Given the description of an element on the screen output the (x, y) to click on. 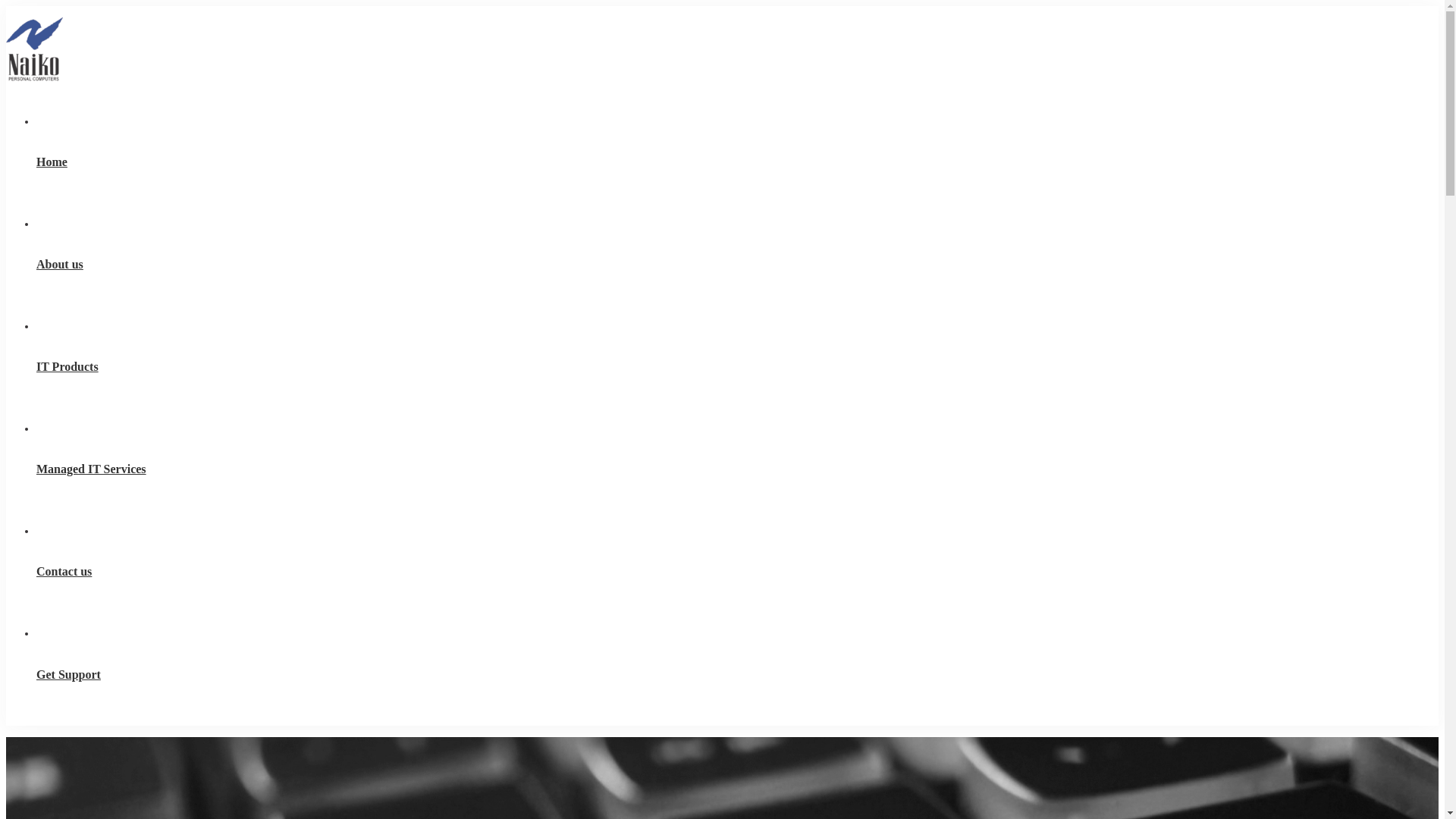
About us Element type: text (737, 264)
IT Products Element type: text (737, 366)
Home Element type: text (737, 162)
Contact us Element type: text (737, 571)
Managed IT Services Element type: text (737, 469)
Get Support Element type: text (737, 673)
